Given the description of an element on the screen output the (x, y) to click on. 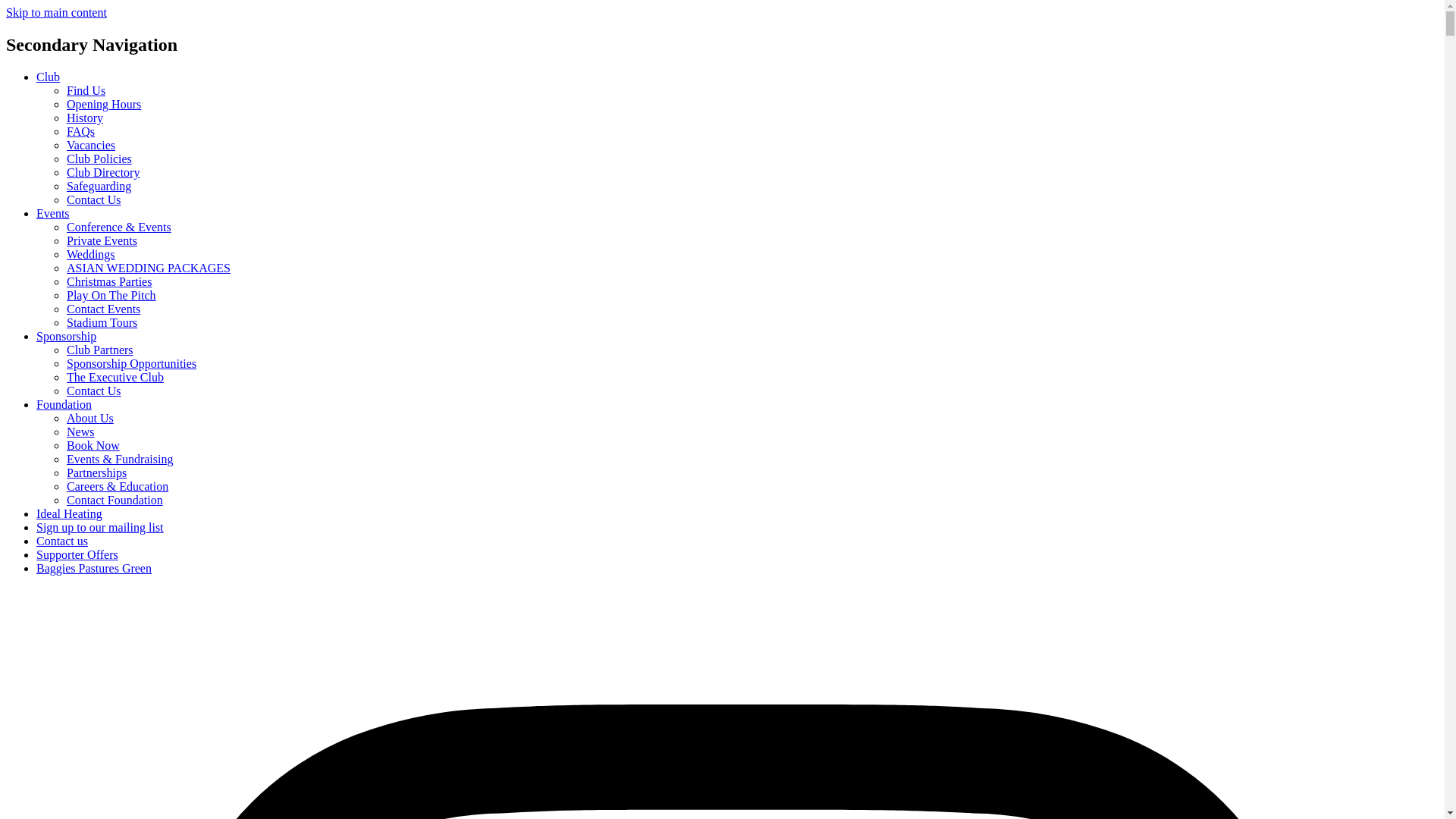
History (84, 117)
Hold your event at The Hawthorns (118, 226)
About Us (89, 418)
Vacancies (90, 144)
Contact Foundation (114, 499)
Celebrate Christmas at The Hawthorns (108, 281)
Club Partners (99, 349)
Contact Us (93, 199)
Foundation (63, 404)
Play On The Pitch (110, 295)
Contact Events (102, 308)
Sponsorship and Partnership Packages (131, 363)
Events (52, 213)
Sign up to our mailing list (99, 526)
Contact us (61, 540)
